Given the description of an element on the screen output the (x, y) to click on. 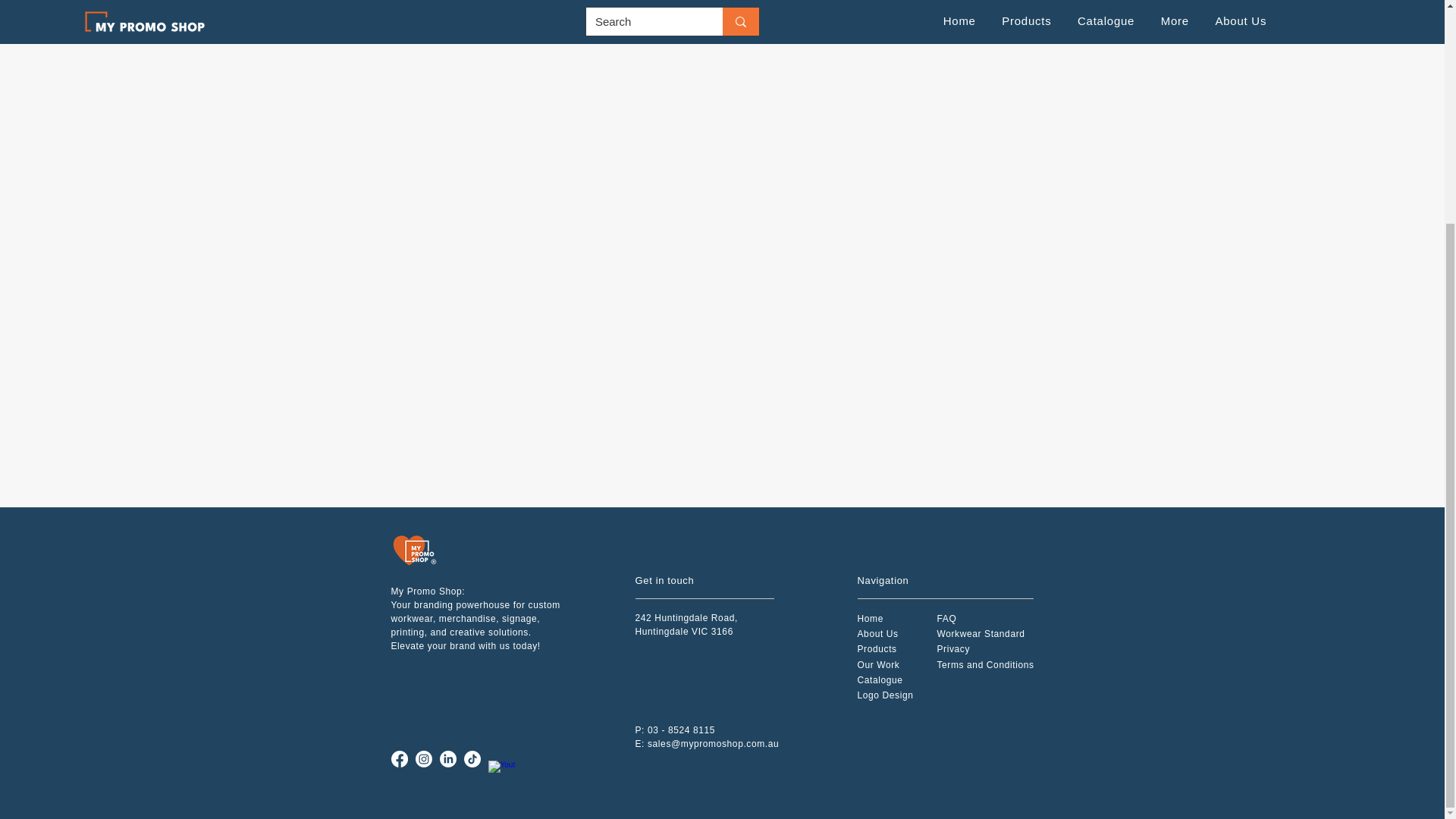
03 - 8524 8115 (680, 728)
Home (869, 618)
Our Work (878, 665)
FAQ (946, 618)
Terms and Conditions (985, 665)
Products (876, 648)
Privacy (954, 648)
Catalogue (879, 679)
About Us (877, 633)
242 Huntingdale Road,  Huntingdale VIC 3166 (687, 623)
